Given the description of an element on the screen output the (x, y) to click on. 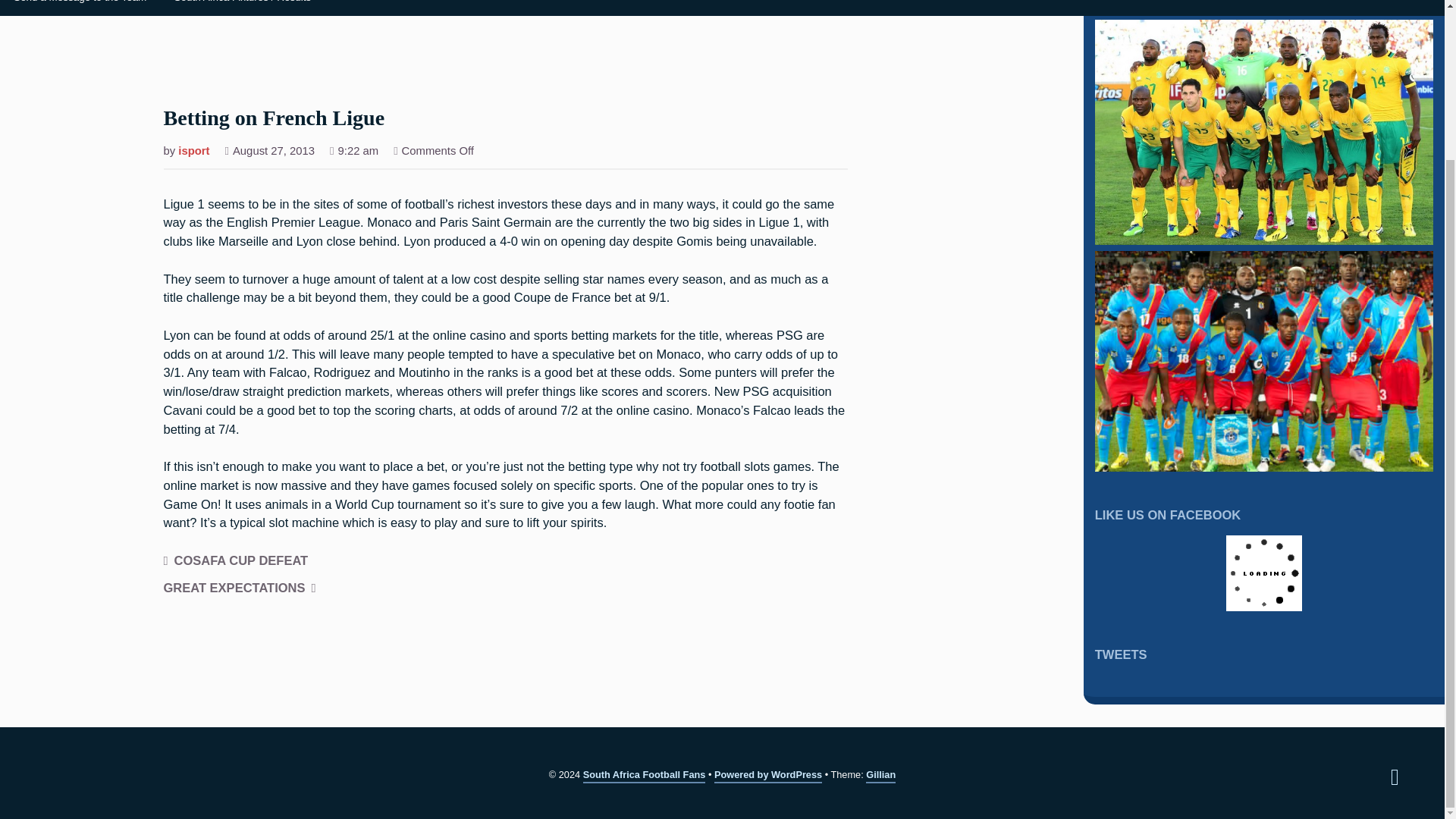
isport (193, 151)
Back to top (1394, 776)
Posts by isport (193, 151)
COSAFA CUP DEFEAT (235, 561)
Powered by WordPress (768, 775)
Gillian (880, 775)
Send a Message to the Team (80, 7)
GREAT EXPECTATIONS (239, 588)
South Africa Football Fans (644, 775)
